Given the description of an element on the screen output the (x, y) to click on. 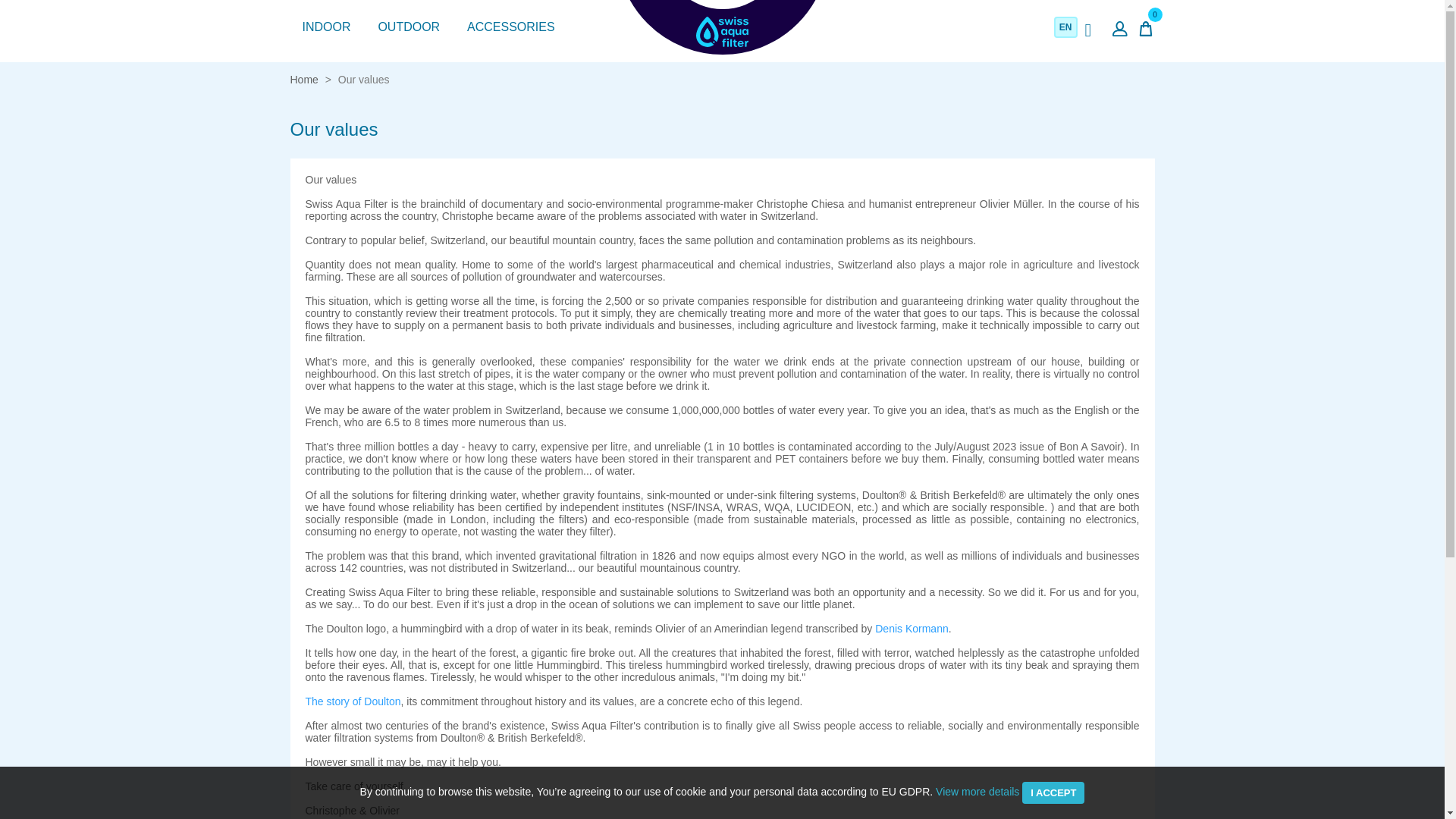
View more details (977, 791)
ACCESSORIES (510, 27)
OUTDOOR (408, 27)
Home (303, 79)
EN (1065, 26)
I accept (1053, 792)
INDOOR (325, 27)
Our values (363, 79)
